Given the description of an element on the screen output the (x, y) to click on. 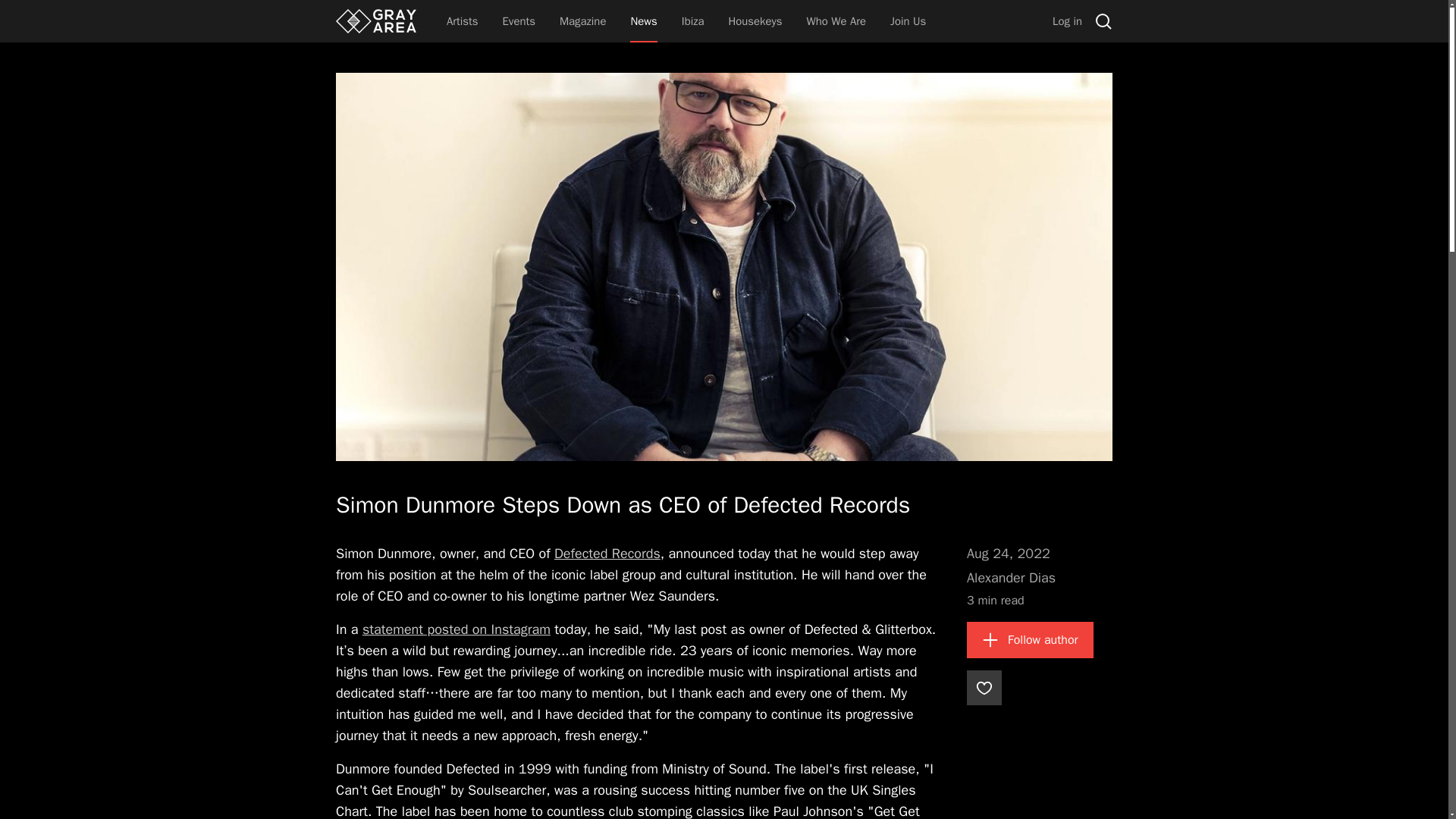
Magazine (583, 21)
Alexander Dias (1010, 577)
Who We Are (836, 21)
Follow author (1029, 639)
Defected Records (607, 553)
statement posted on Instagram (456, 629)
Housekeys (754, 21)
